Given the description of an element on the screen output the (x, y) to click on. 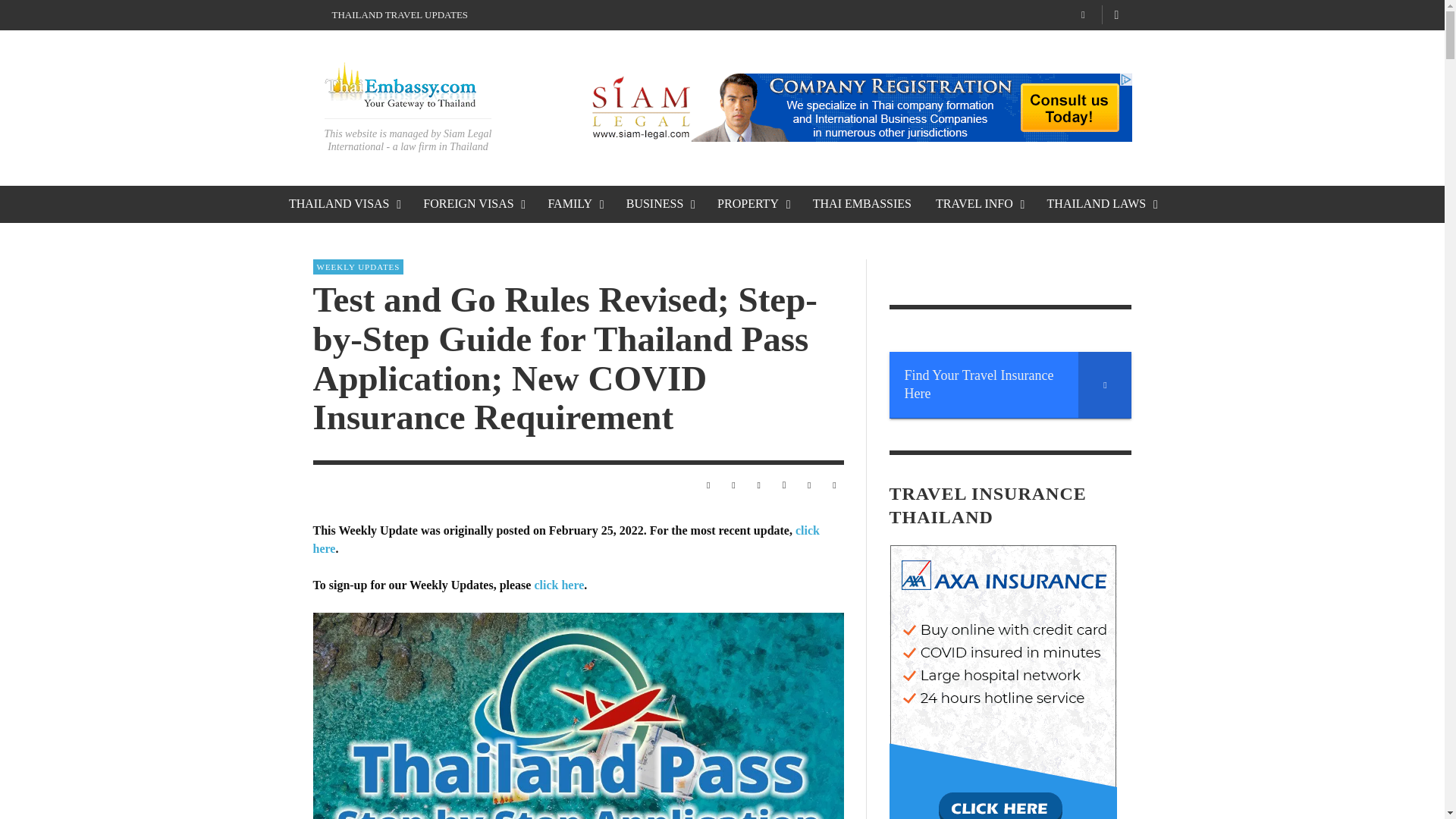
law firm in Thailand (443, 146)
View all posts in Weekly Updates (358, 266)
FOREIGN VISAS (472, 204)
THAILAND VISAS (343, 204)
THAILAND TRAVEL UPDATES (400, 15)
